Given the description of an element on the screen output the (x, y) to click on. 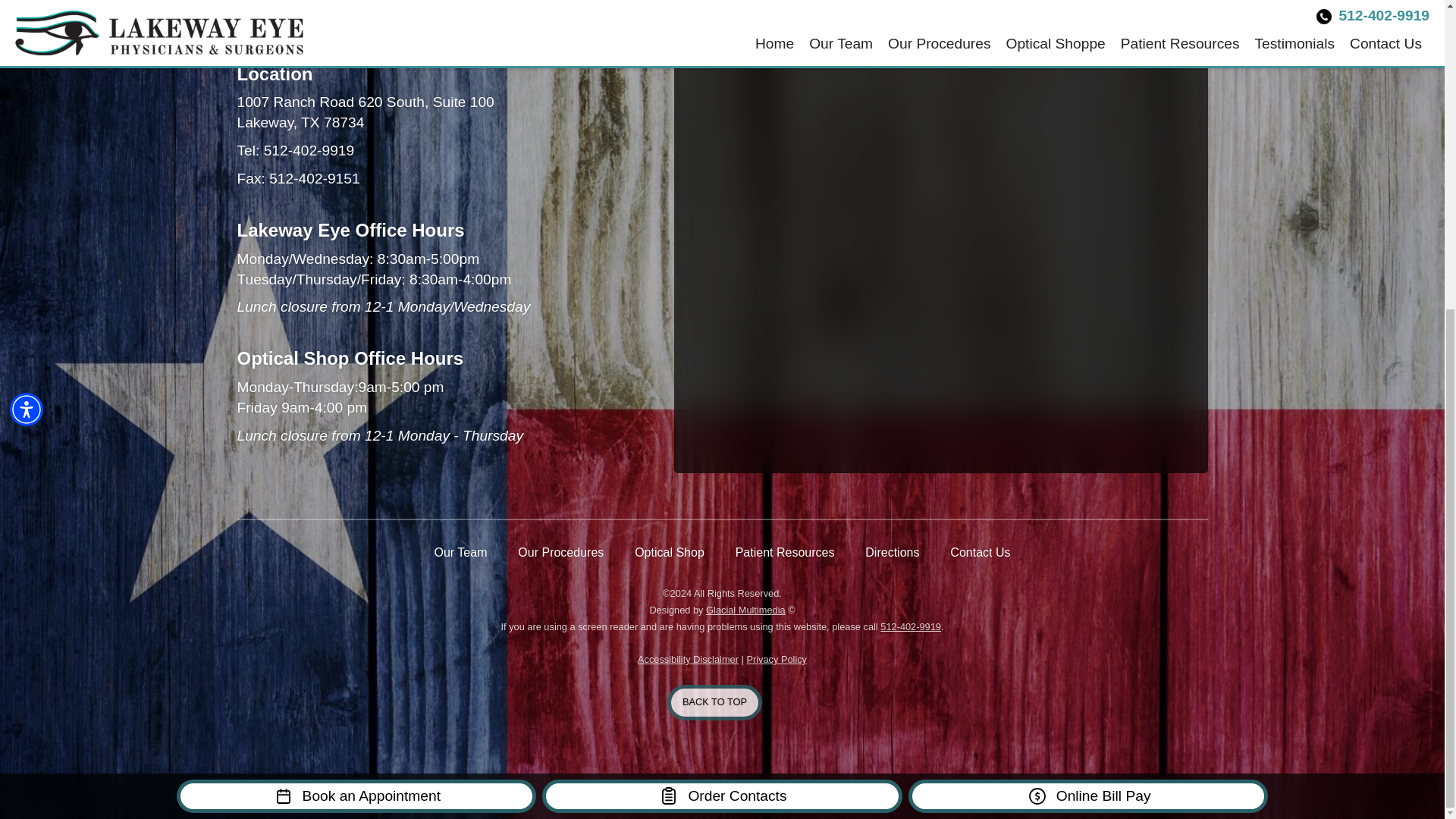
Order Contacts (721, 306)
Our Team (459, 552)
Optical Shop (669, 552)
Our Procedures (561, 552)
Online Bill Pay (1088, 306)
Book an Appointment (355, 306)
512-402-9919 (309, 150)
Patient Resources (784, 552)
